Given the description of an element on the screen output the (x, y) to click on. 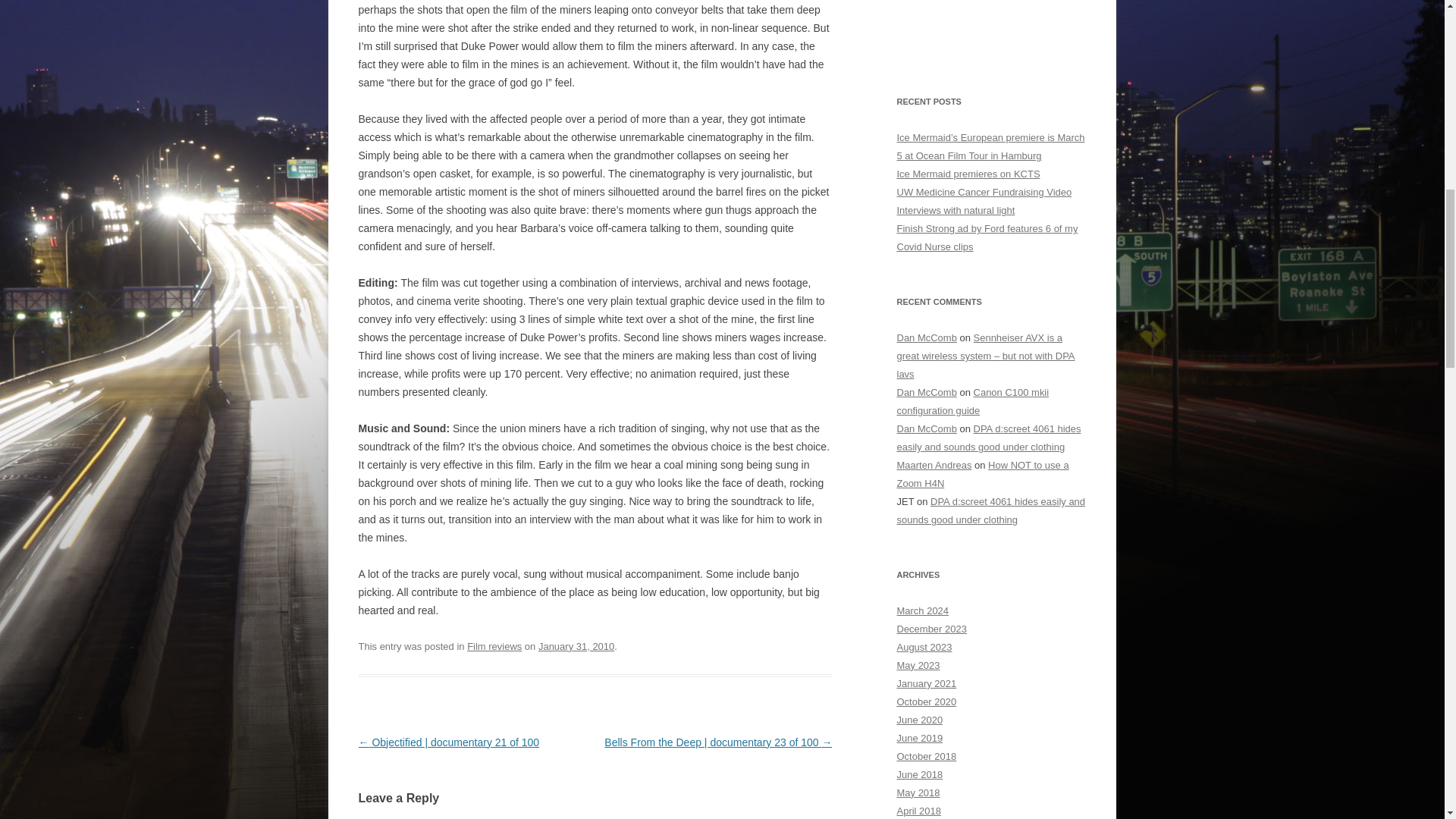
Dan McComb (926, 337)
UW Medicine Cancer Fundraising Video (983, 192)
December 2023 (931, 628)
March 2024 (922, 610)
How NOT to use a Zoom H4N (982, 473)
May 2023 (917, 665)
January 2021 (926, 683)
August 2023 (924, 646)
Dan McComb (926, 392)
Interviews with natural light (955, 210)
Dan McComb (926, 428)
January 31, 2010 (576, 645)
7:38 pm (576, 645)
